Given the description of an element on the screen output the (x, y) to click on. 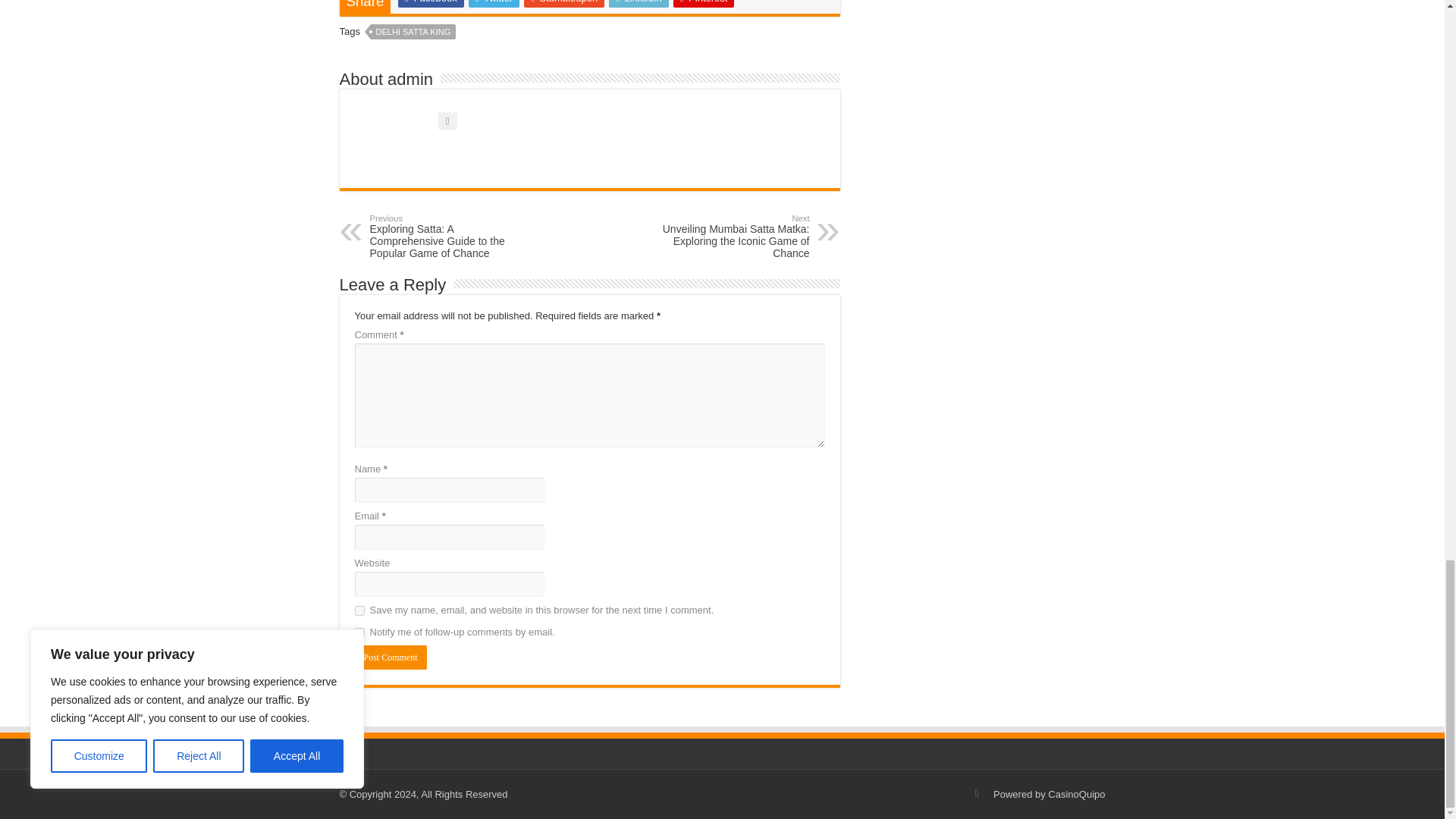
subscribe (360, 633)
Post Comment (390, 657)
yes (360, 610)
